Given the description of an element on the screen output the (x, y) to click on. 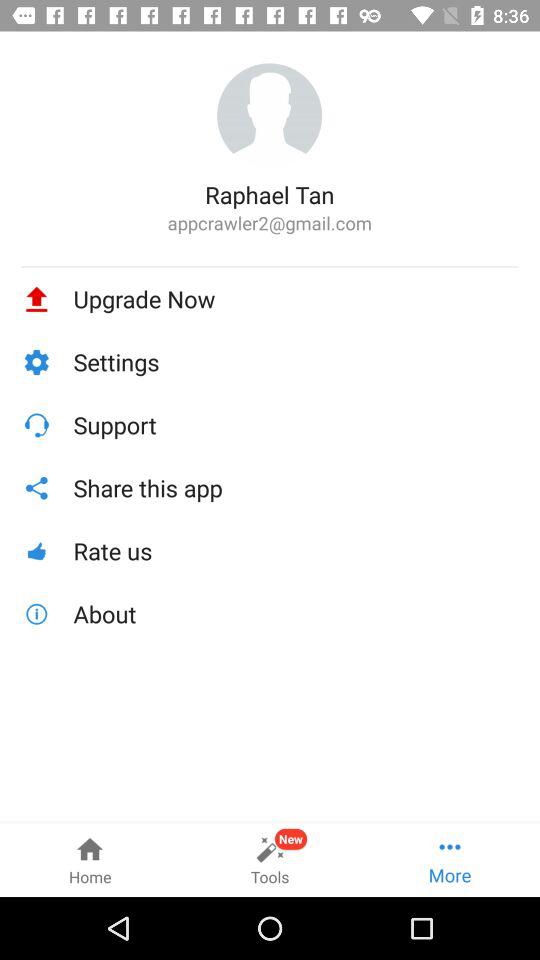
flip to share this app item (296, 487)
